Given the description of an element on the screen output the (x, y) to click on. 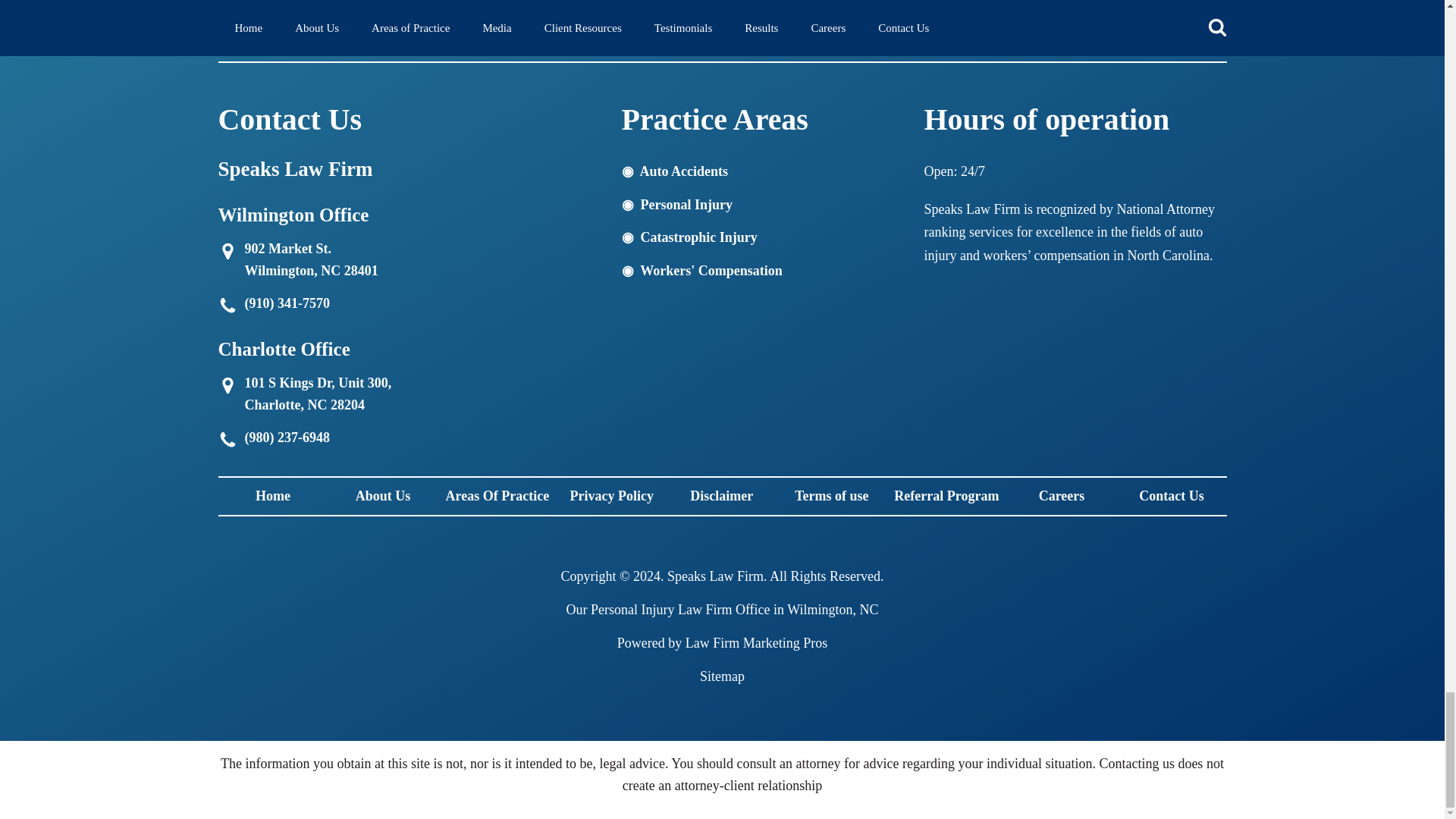
Wilmington Office (231, 247)
Charlotte Office (231, 381)
Call now (231, 303)
